Given the description of an element on the screen output the (x, y) to click on. 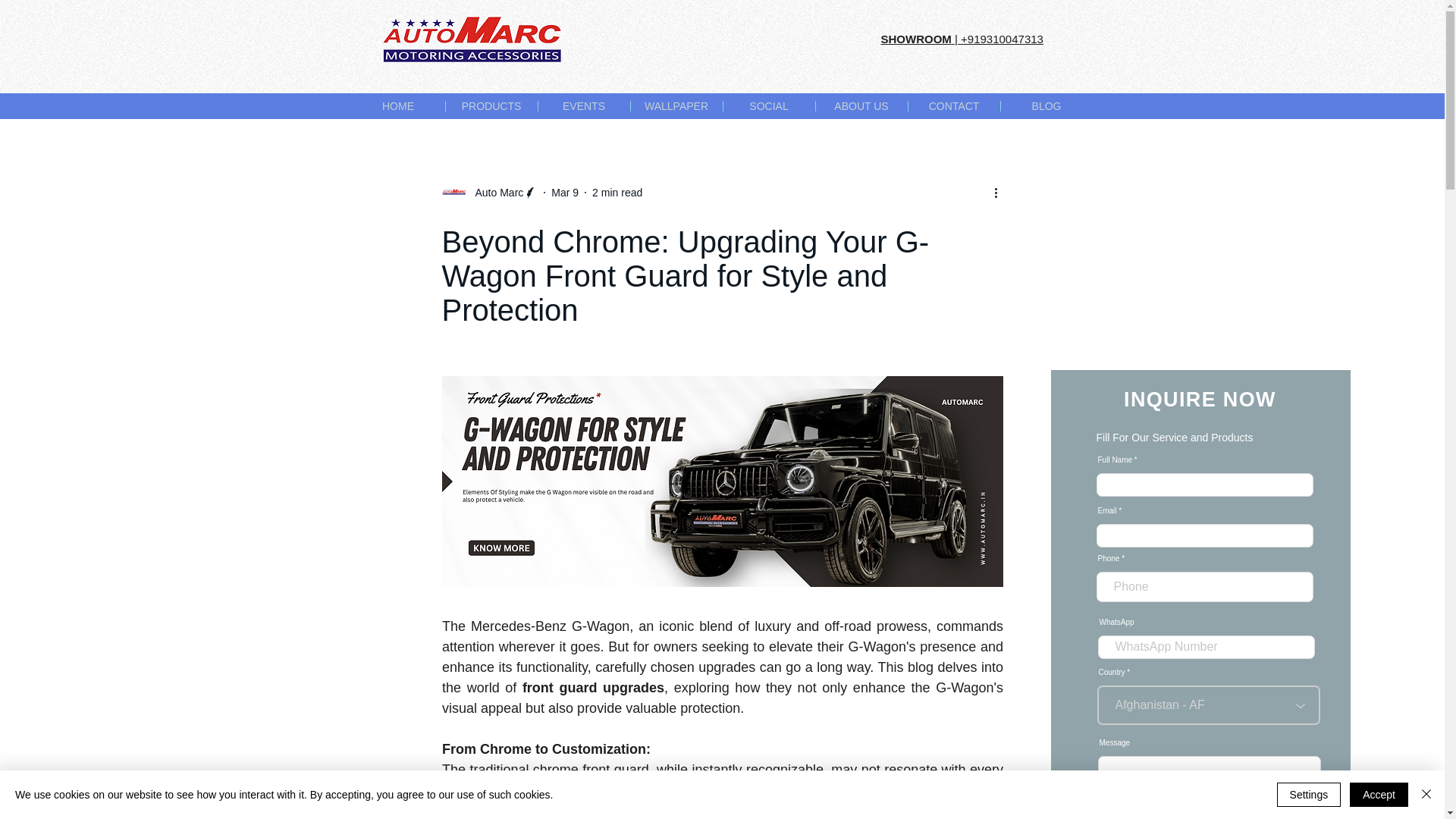
HOME (398, 105)
Auto Marc (489, 192)
2 min read (617, 192)
Auto Marc (493, 192)
Afghanistan - AF (1207, 704)
CONTACT (952, 105)
BLOG (1045, 105)
PRODUCTS (490, 105)
Mar 9 (564, 192)
EVENTS (582, 105)
